Given the description of an element on the screen output the (x, y) to click on. 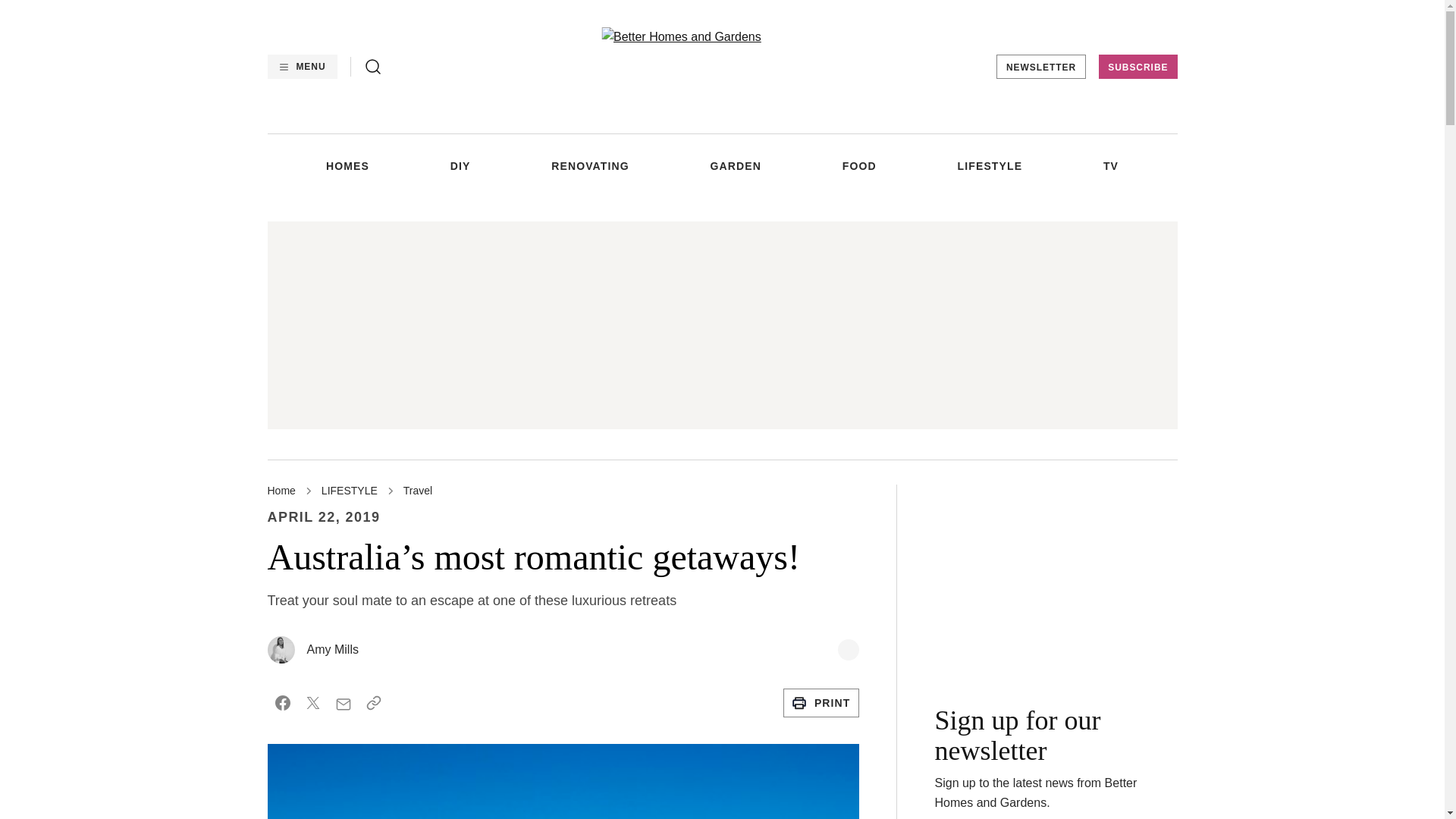
TV (1110, 165)
FOOD (859, 165)
HOMES (347, 165)
SUBSCRIBE (1137, 66)
GARDEN (735, 165)
RENOVATING (589, 165)
NEWSLETTER (1040, 66)
LIFESTYLE (990, 165)
DIY (459, 165)
MENU (301, 66)
